Given the description of an element on the screen output the (x, y) to click on. 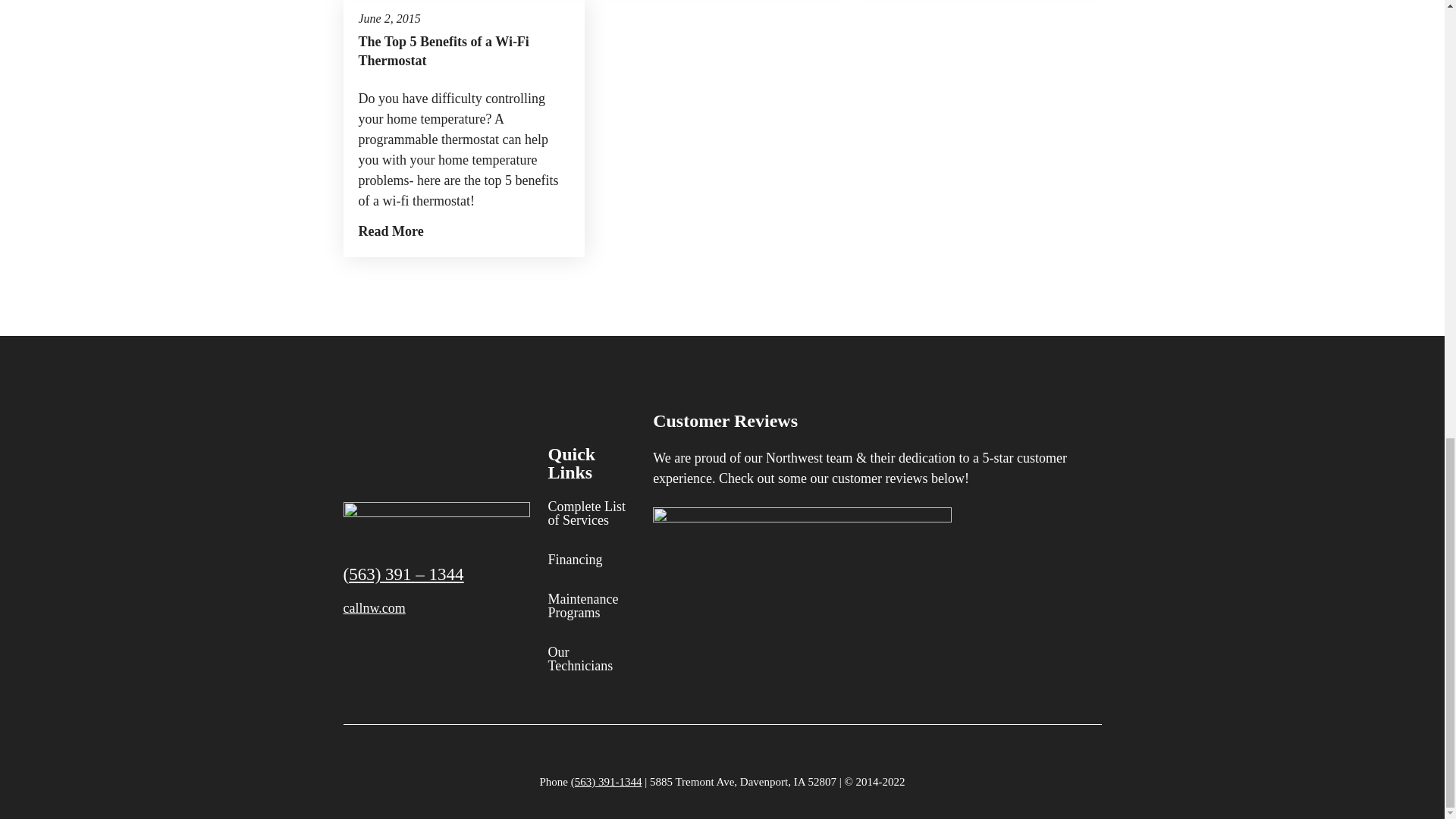
The Top 5 Benefits of a Wi-Fi Thermostat (463, 51)
June 2, 2015 (389, 18)
Read More (390, 231)
